Given the description of an element on the screen output the (x, y) to click on. 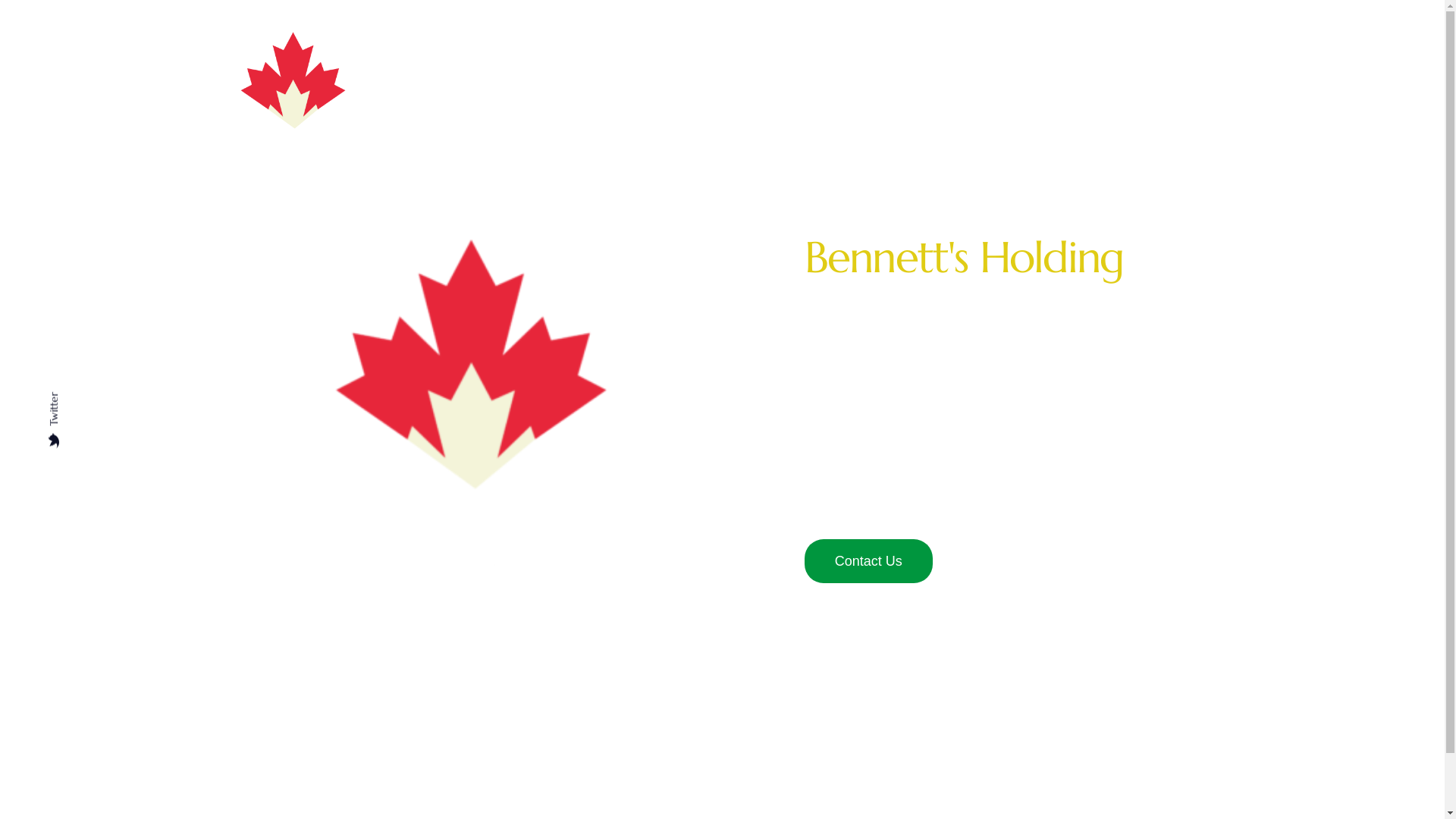
Twitter Element type: text (70, 403)
Contact Us Element type: text (868, 560)
